Given the description of an element on the screen output the (x, y) to click on. 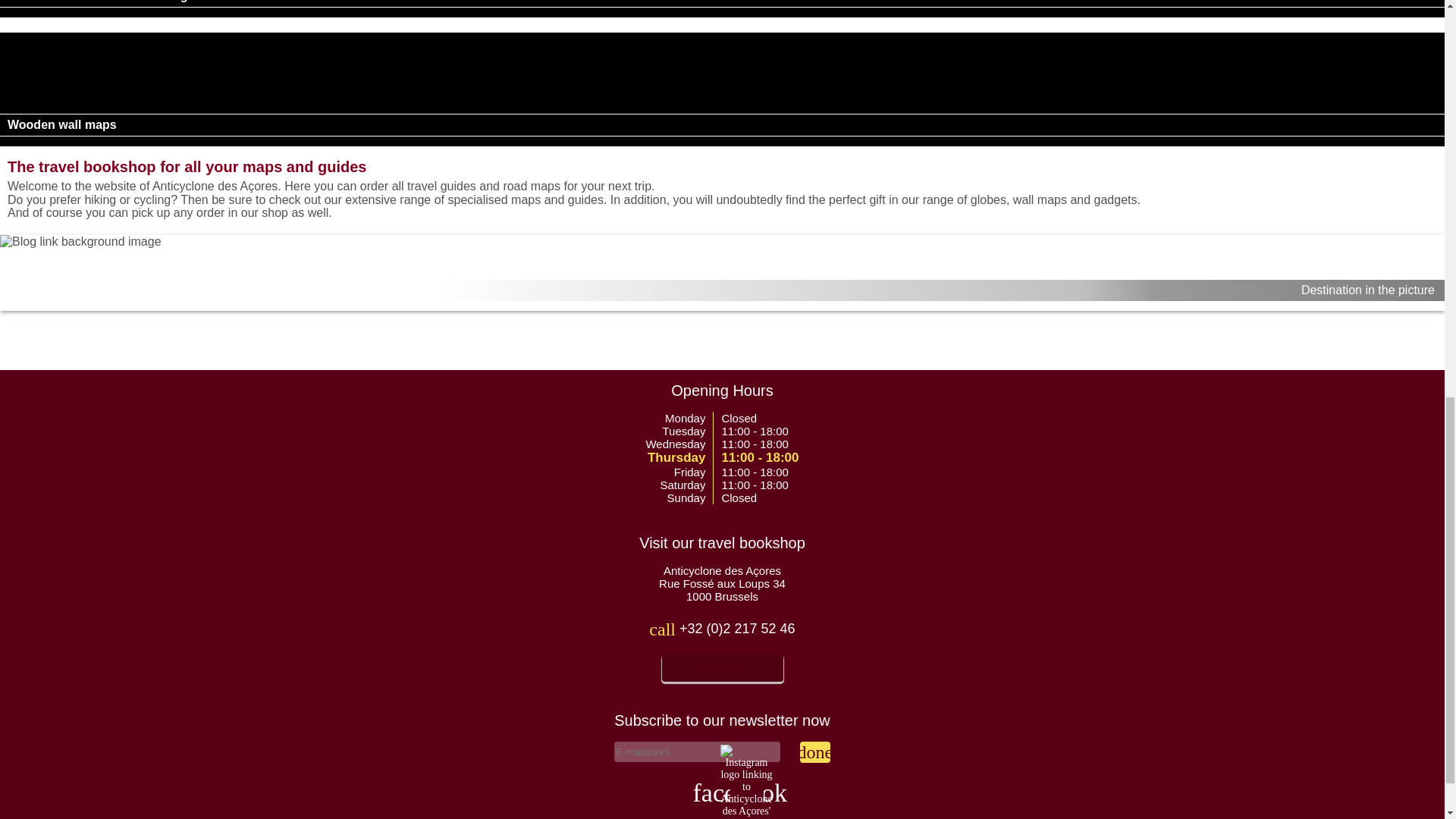
done (814, 752)
Contact us (722, 667)
facebook (701, 792)
facebook (705, 792)
